Given the description of an element on the screen output the (x, y) to click on. 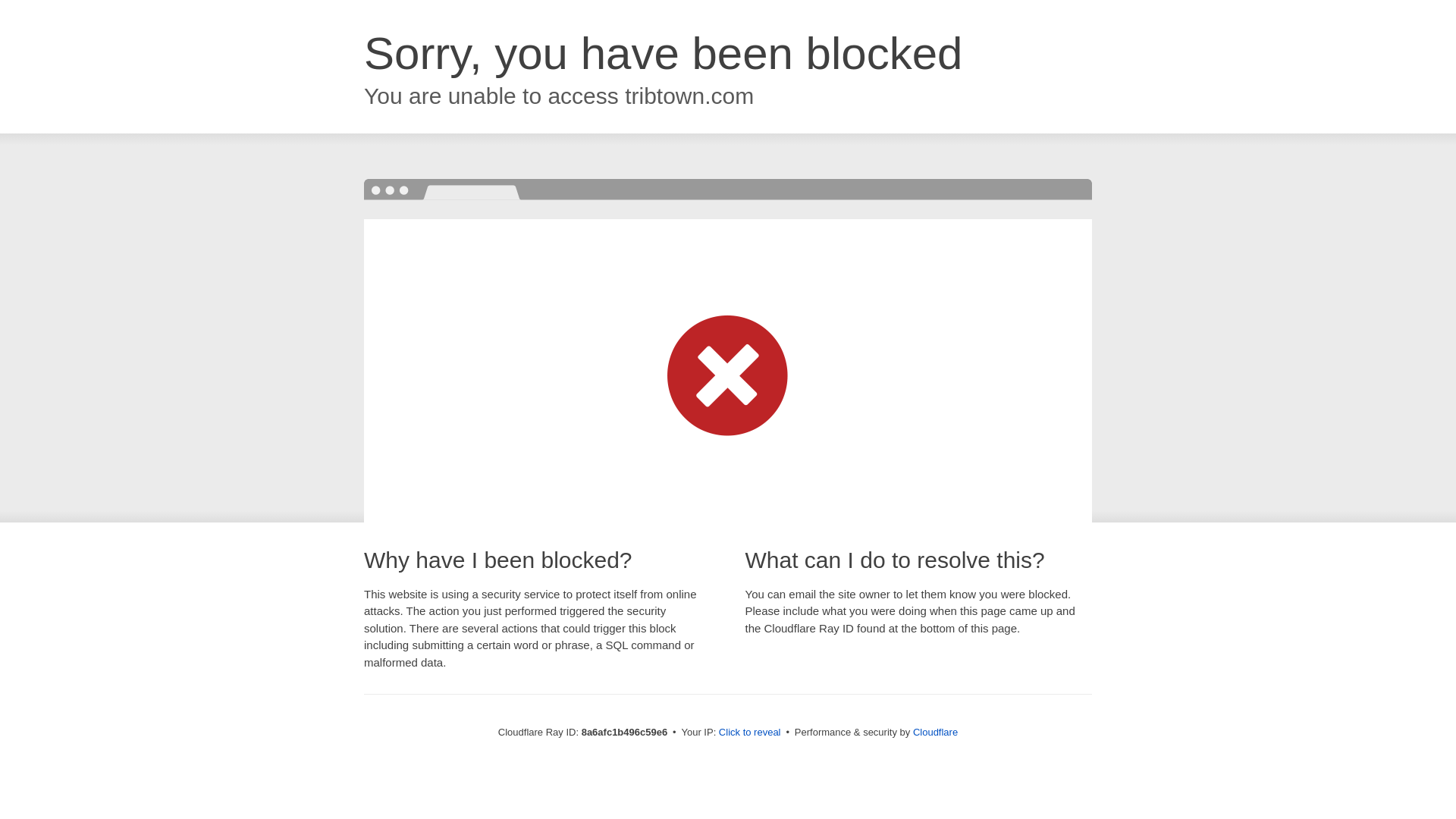
Cloudflare (935, 731)
Click to reveal (749, 732)
